Given the description of an element on the screen output the (x, y) to click on. 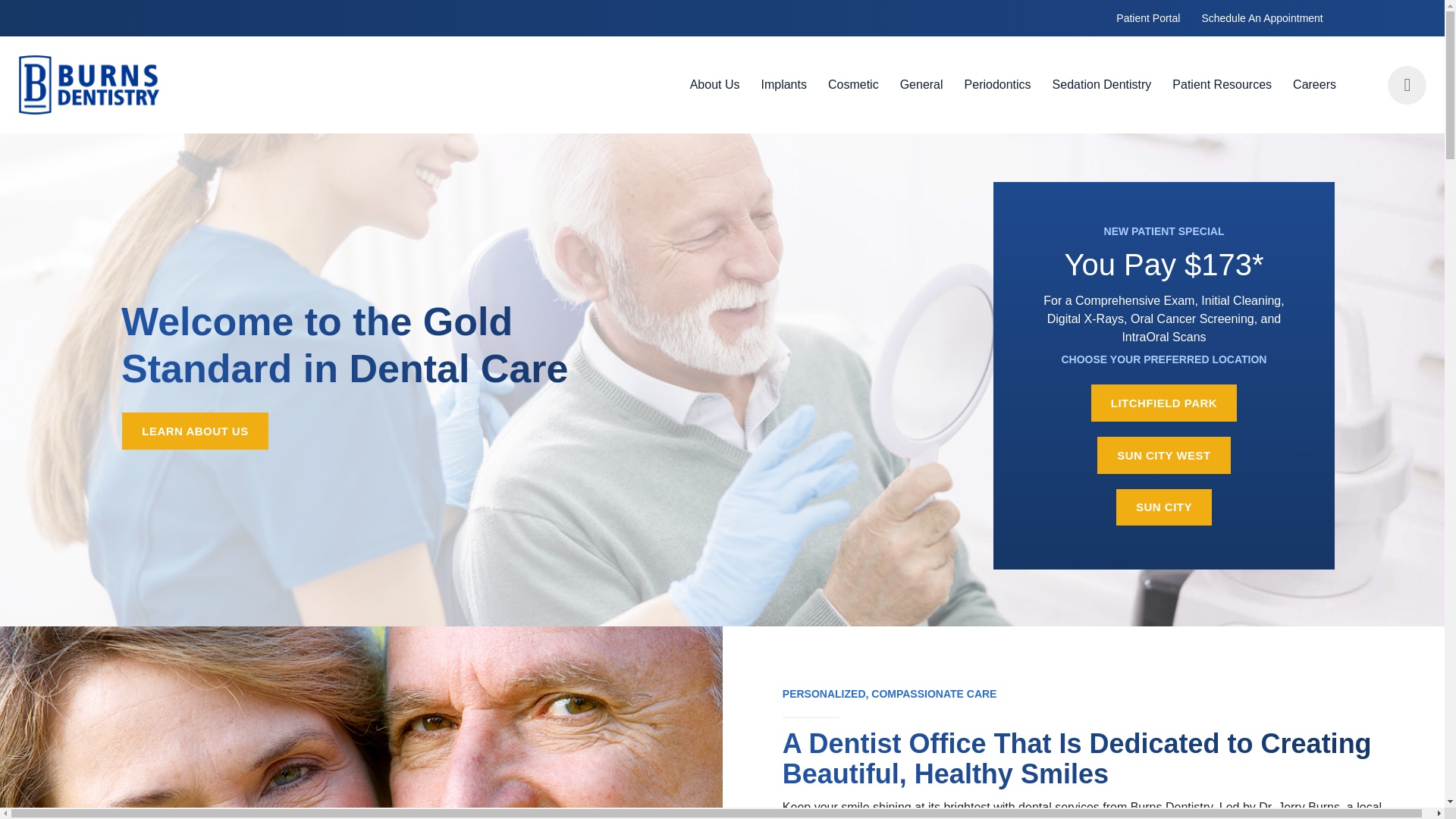
Burns Dentistry (135, 84)
